Given the description of an element on the screen output the (x, y) to click on. 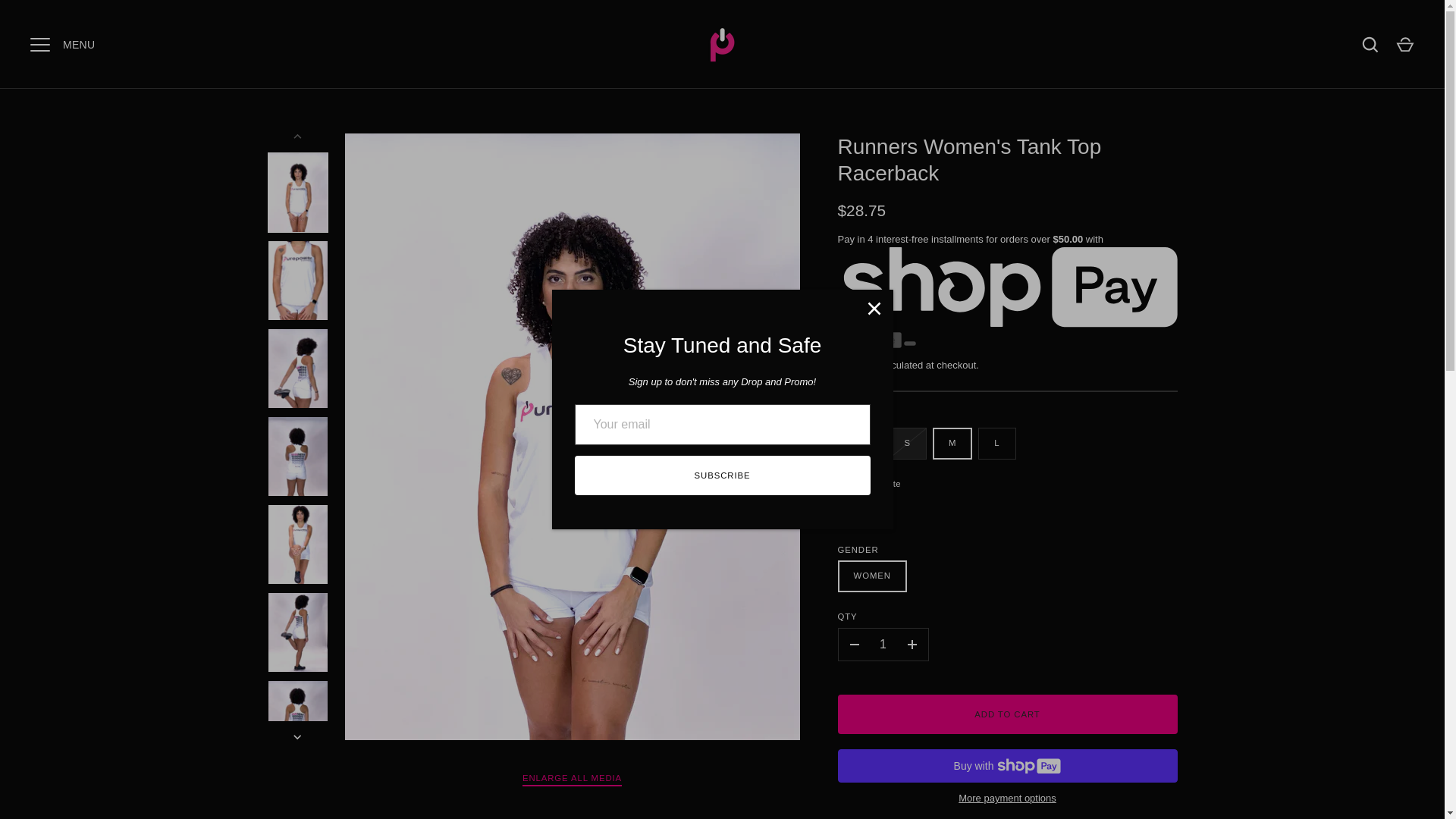
1 (883, 644)
Sold out (859, 443)
MENU (39, 43)
Sold out (907, 443)
